Given the description of an element on the screen output the (x, y) to click on. 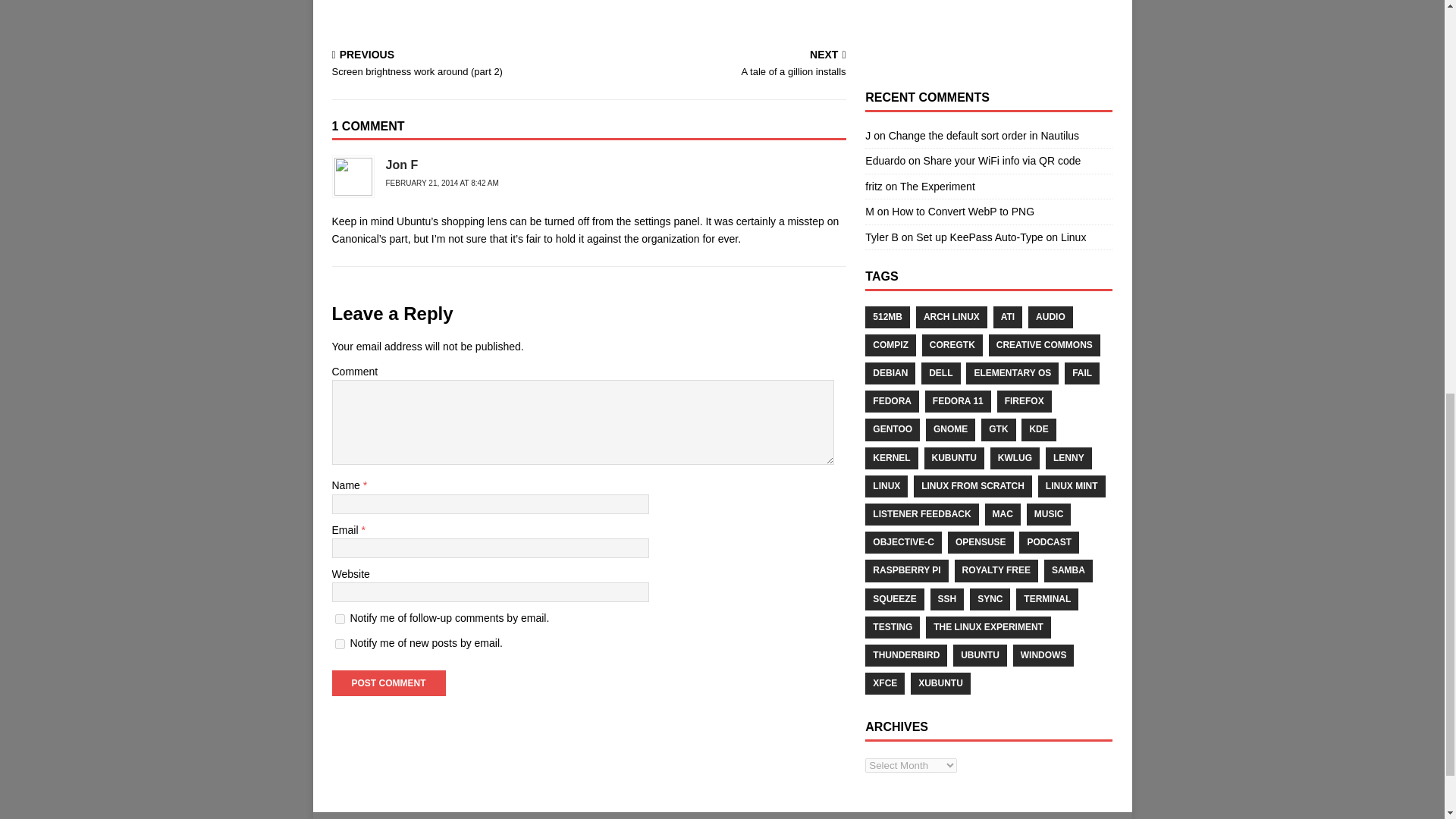
Post Comment (388, 683)
Share your WiFi info via QR code (720, 64)
FEBRUARY 21, 2014 AT 8:42 AM (1002, 160)
Change the default sort order in Nautilus (441, 183)
subscribe (983, 135)
subscribe (339, 644)
Advertisement (339, 619)
Post Comment (988, 27)
